Given the description of an element on the screen output the (x, y) to click on. 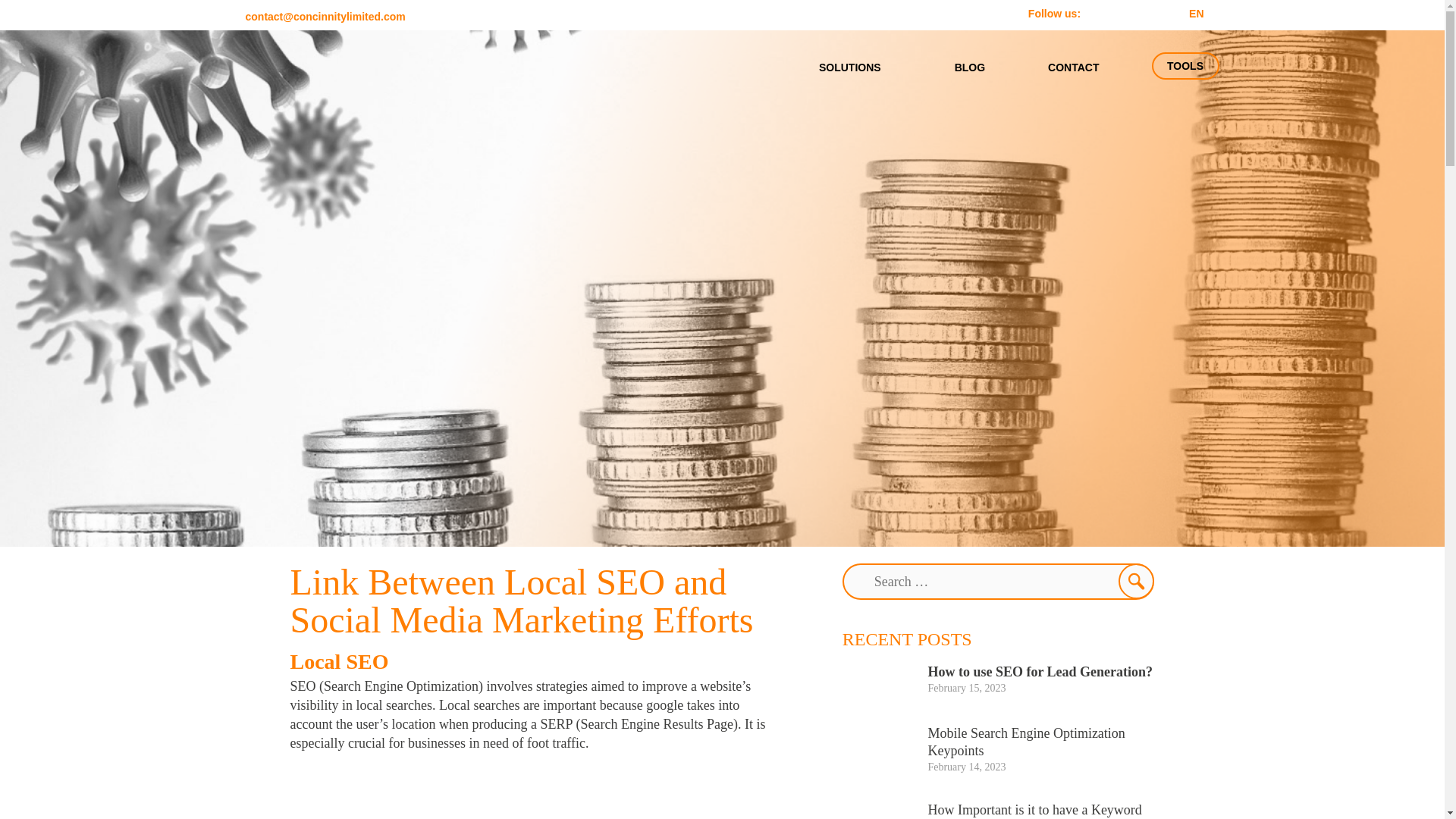
Search Engine Optimization (401, 685)
EN (1196, 13)
BLOG (969, 67)
CONTACT (1072, 67)
Search for: (998, 581)
Mobile Search Engine Optimization Keypoints (1025, 741)
SOLUTIONS (855, 67)
TOOLS (1185, 65)
How to use SEO for Lead Generation? (1040, 671)
How Important is it to have a Keyword in a Domain Name? (1034, 810)
Search Engine Results Page (655, 724)
